Given the description of an element on the screen output the (x, y) to click on. 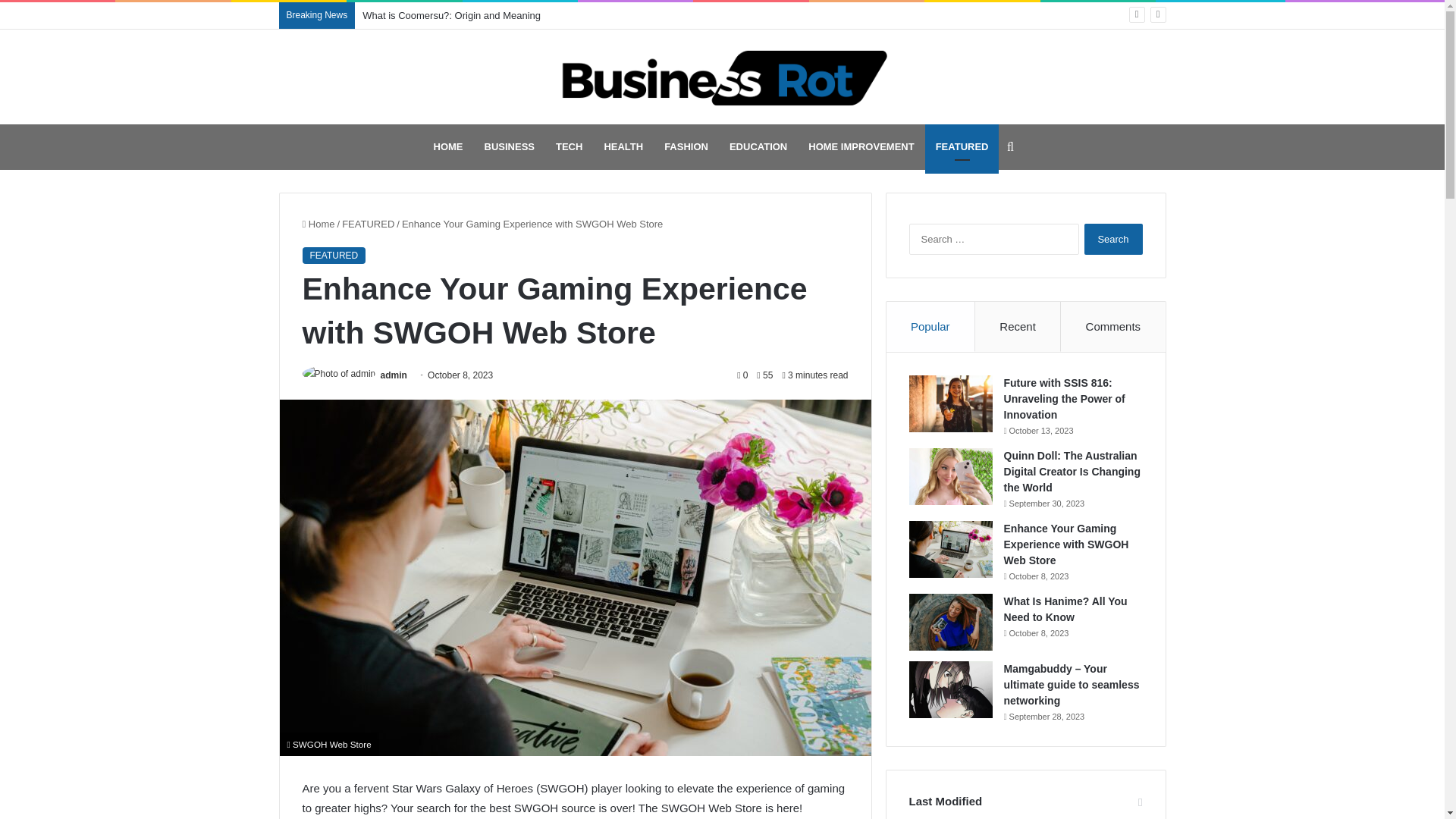
Search (1113, 238)
Search (1113, 238)
FEATURED (333, 255)
admin (393, 375)
admin (393, 375)
business rot (722, 76)
HOME IMPROVEMENT (860, 146)
HOME (448, 146)
Home (317, 224)
TECH (568, 146)
